Given the description of an element on the screen output the (x, y) to click on. 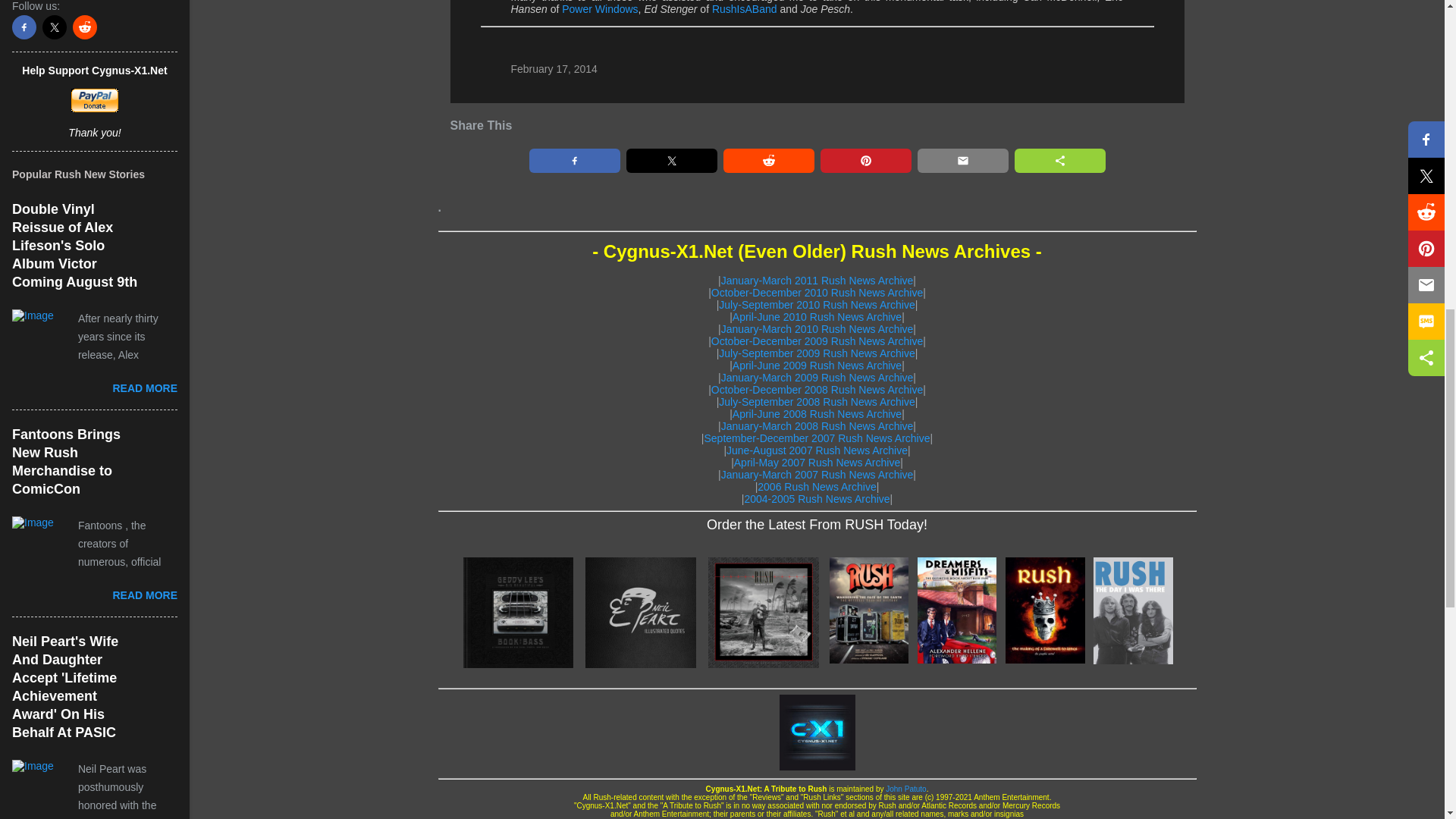
April-June 2009 Rush News Archive (816, 365)
July-September 2009 Rush News Archive (816, 353)
January-March 2011 Rush News Archive (817, 280)
January-March 2007 Rush News Archive (817, 474)
April-June 2010 Rush News Archive (816, 316)
October-December 2008 Rush News Archive (817, 389)
July-September 2010 Rush News Archive (816, 304)
January-March 2009 Rush News Archive (817, 377)
permanent link (553, 69)
September-December 2007 Rush News Archive (816, 438)
January-March 2008 Rush News Archive (817, 426)
2004-2005 Rush News Archive (816, 499)
2006 Rush News Archive (816, 486)
RushIsABand (744, 9)
Power Windows (599, 9)
